Given the description of an element on the screen output the (x, y) to click on. 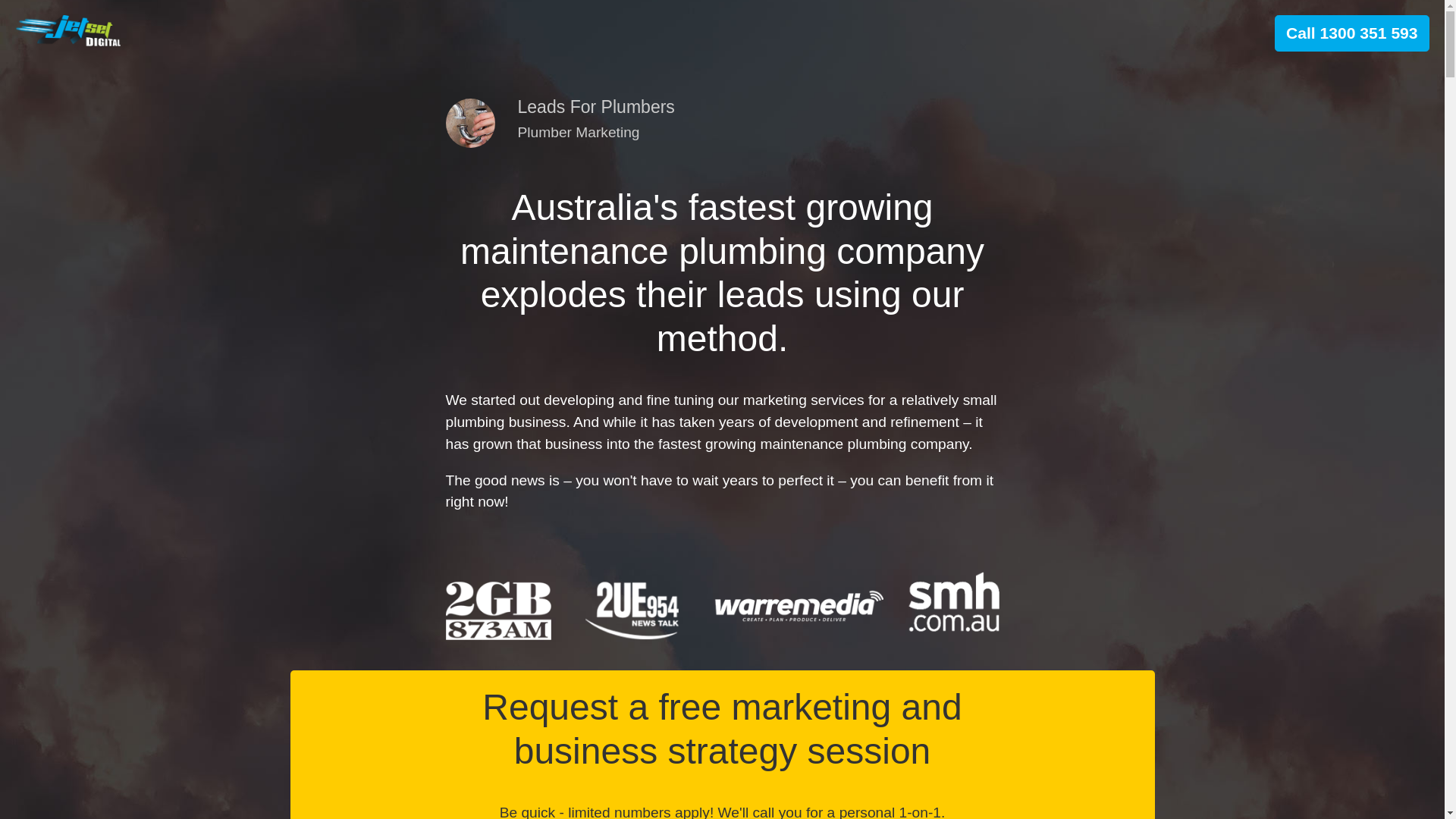
Jetset Digital Element type: hover (68, 29)
Call 1300 351 593 Element type: text (1351, 33)
